Given the description of an element on the screen output the (x, y) to click on. 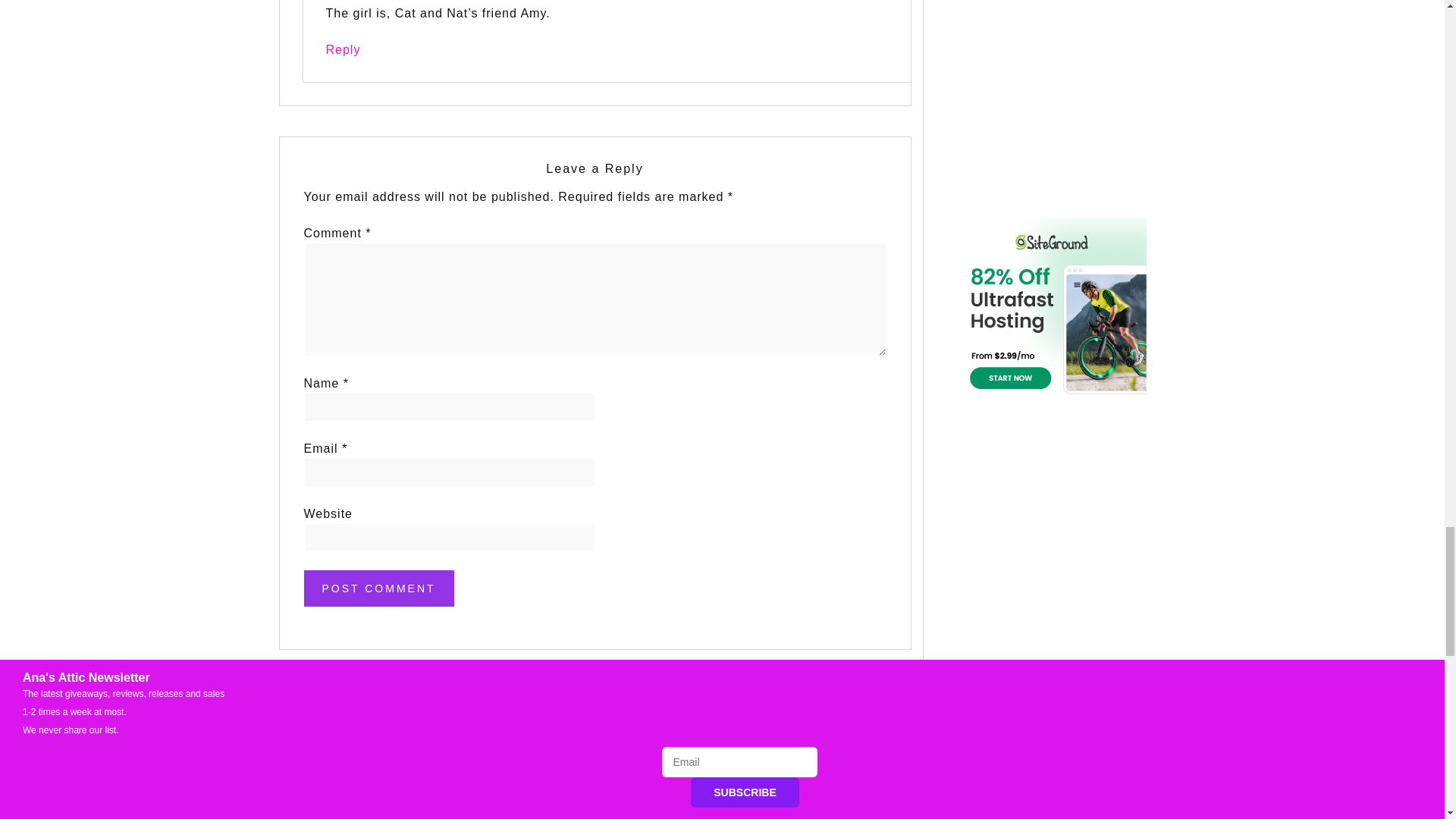
Post Comment (377, 588)
